Given the description of an element on the screen output the (x, y) to click on. 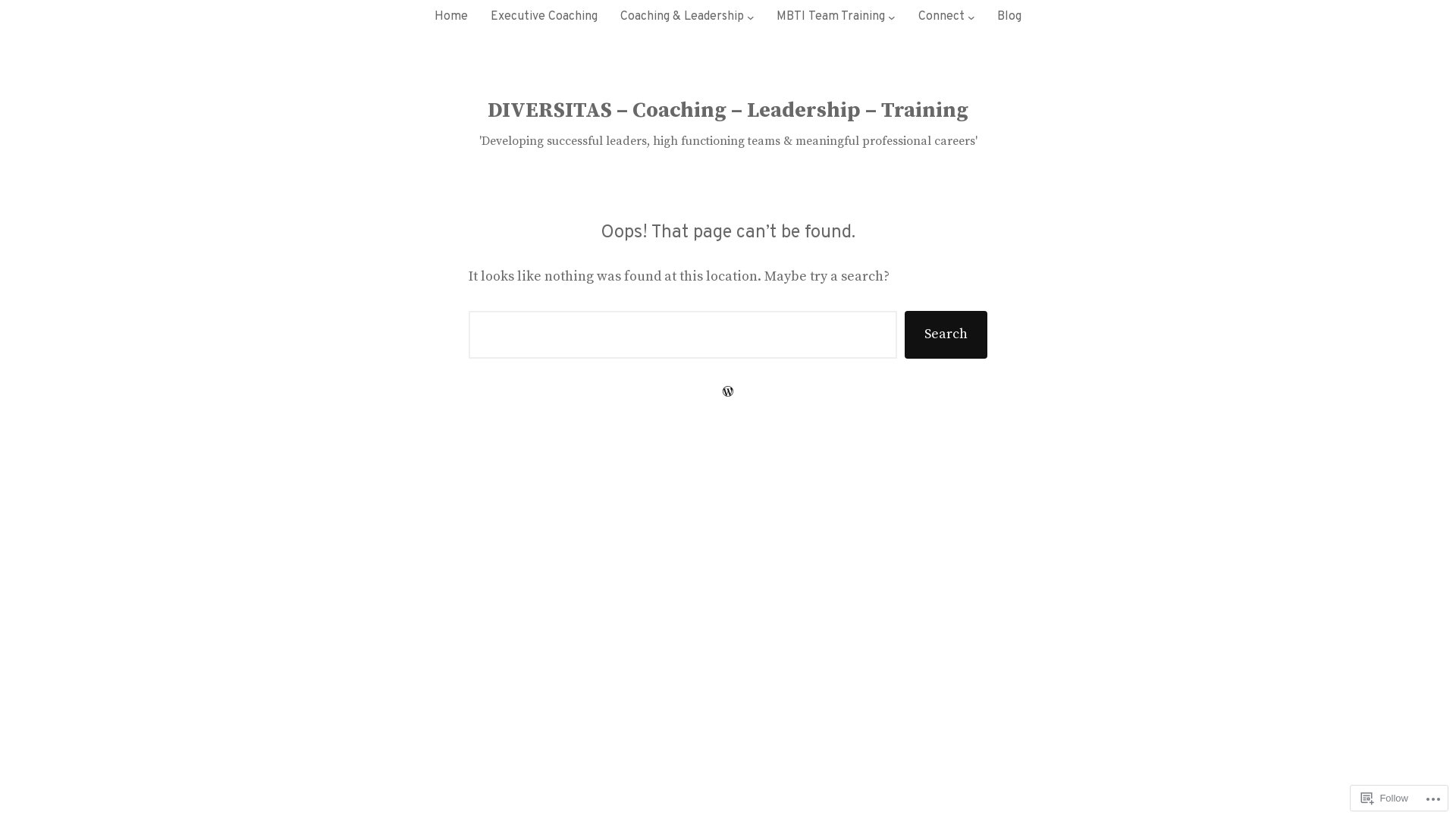
MBTI Team Training Element type: text (830, 17)
Home Element type: text (450, 17)
Executive Coaching Element type: text (543, 17)
Coaching & Leadership Element type: text (681, 17)
Create a website or blog at WordPress.com Element type: text (727, 391)
Follow Element type: text (1384, 797)
Connect Element type: text (941, 17)
Blog Element type: text (1009, 17)
Search Element type: text (945, 334)
